Given the description of an element on the screen output the (x, y) to click on. 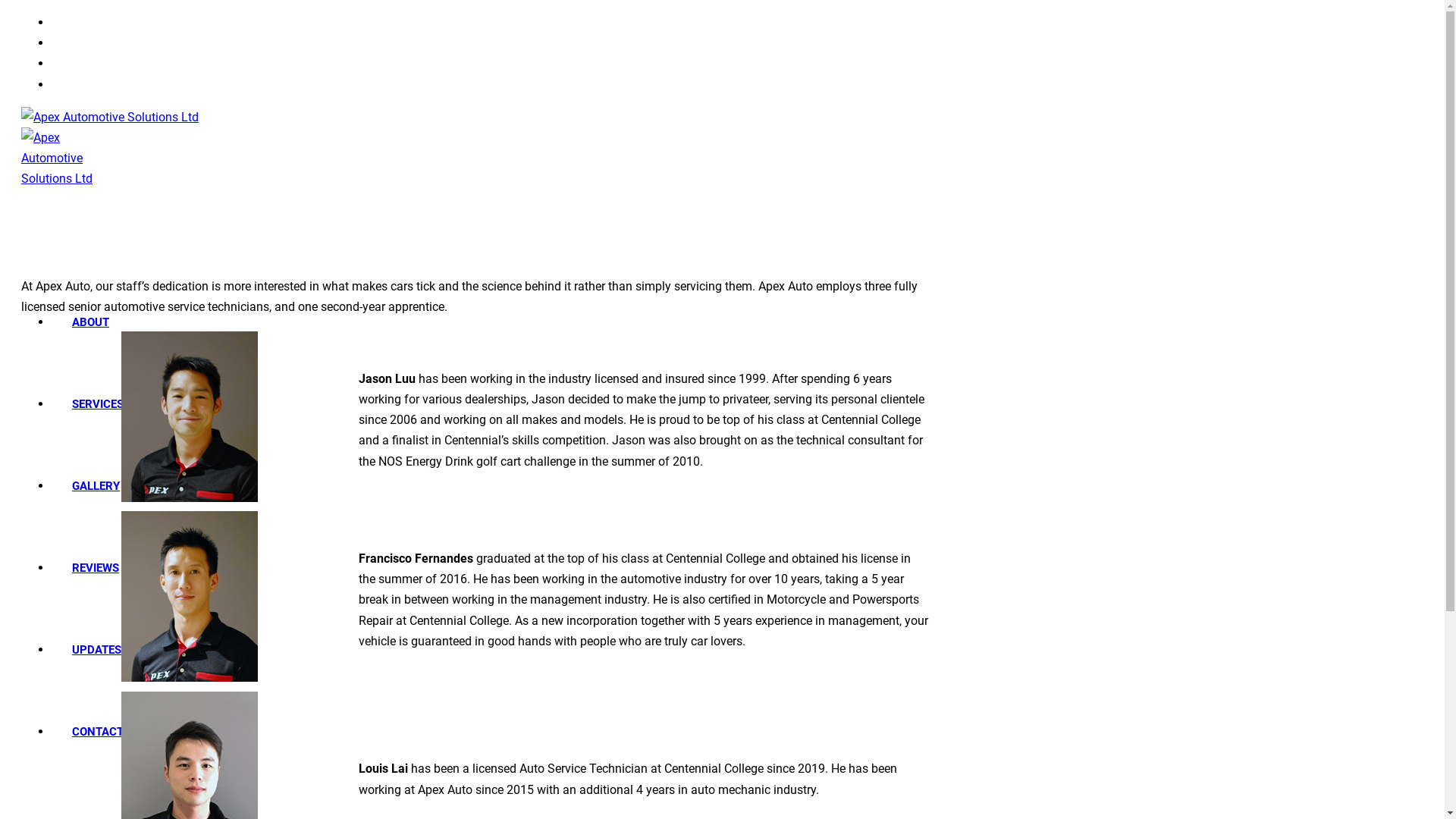
Apex Automotive Solutions Ltd Element type: hover (109, 147)
ABOUT Element type: text (90, 322)
UPDATES Element type: text (96, 649)
GALLERY Element type: text (95, 485)
REVIEWS Element type: text (95, 567)
CONTACT Element type: text (97, 731)
SERVICES Element type: text (97, 404)
